Given the description of an element on the screen output the (x, y) to click on. 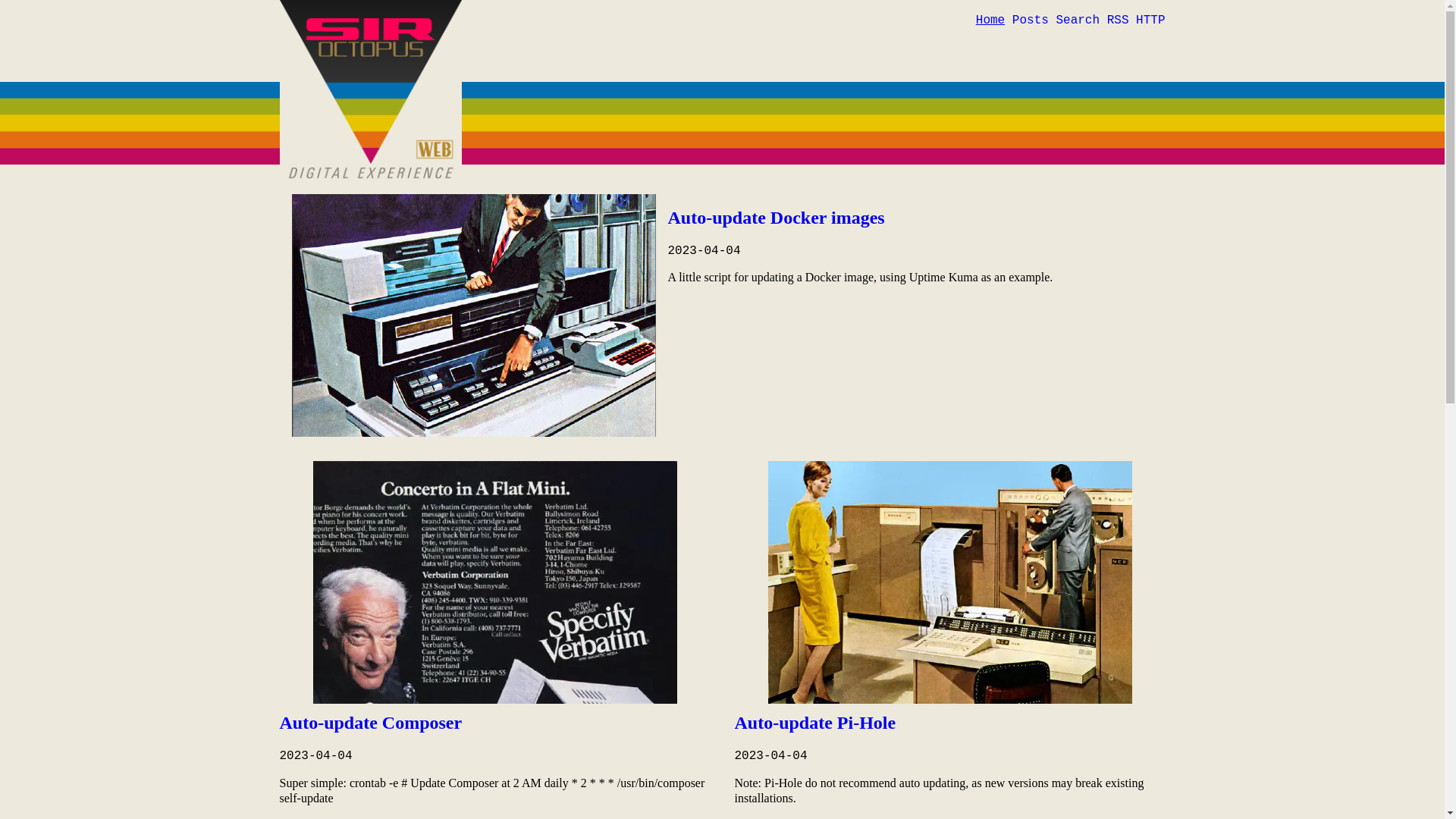
Home Element type: text (989, 20)
HTTP Element type: text (1149, 20)
RSS Element type: text (1118, 20)
Posts Element type: text (1030, 20)
Auto-update Composer Element type: text (370, 722)
Auto-update Pi-Hole Element type: text (814, 722)
Auto-update Docker images Element type: text (775, 217)
Search Element type: text (1077, 20)
